Given the description of an element on the screen output the (x, y) to click on. 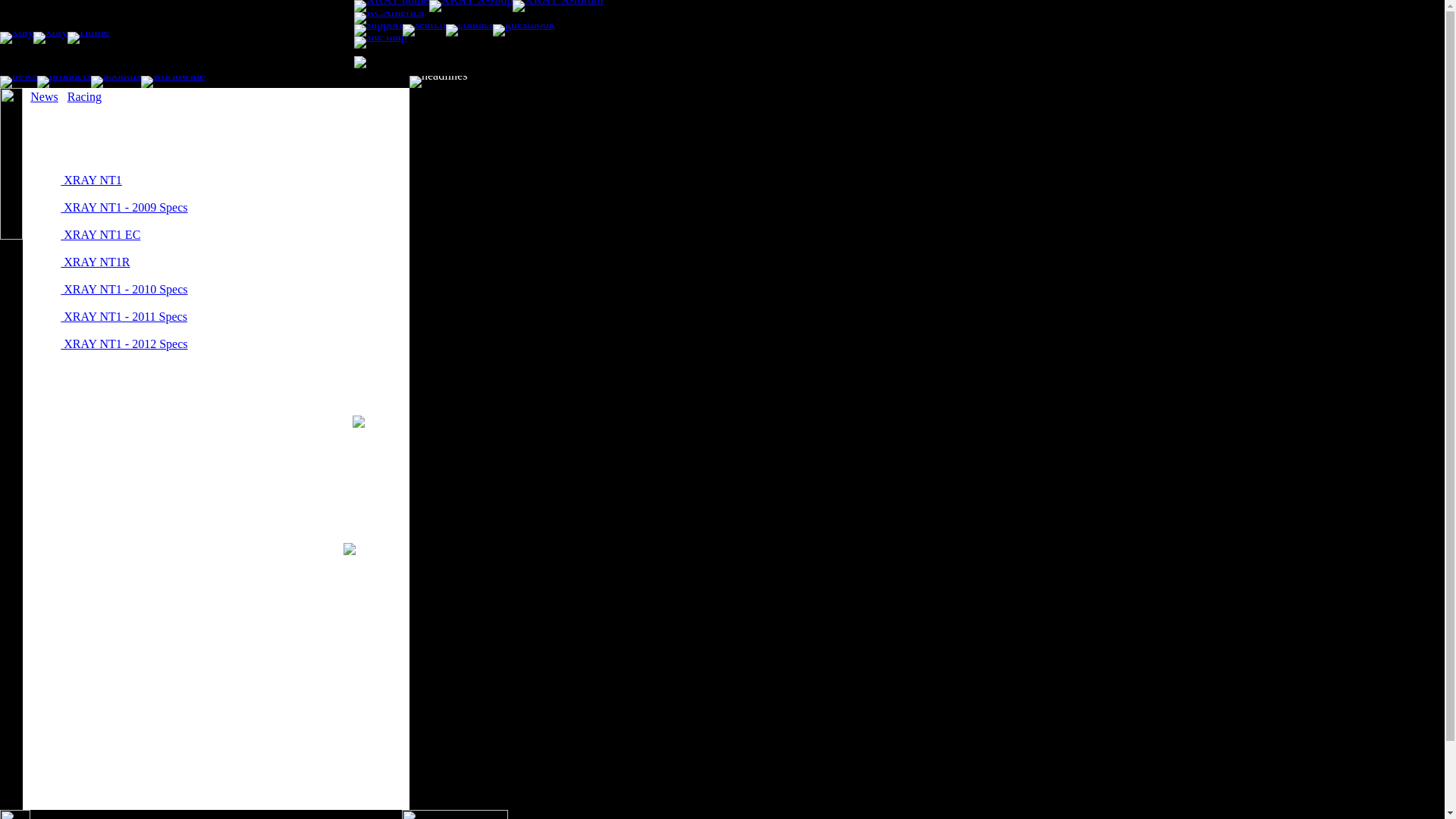
 XRAY NT1 - 2011 Specs (124, 316)
 XRAY NT1 - 2012 Specs (124, 343)
 XRAY NT1R (95, 261)
 XRAY NT1 - 2009 Specs (124, 206)
News (44, 96)
 XRAY NT1 EC (100, 234)
 XRAY NT1 - 2010 Specs (124, 288)
Racing (83, 96)
 XRAY NT1 (91, 179)
